Given the description of an element on the screen output the (x, y) to click on. 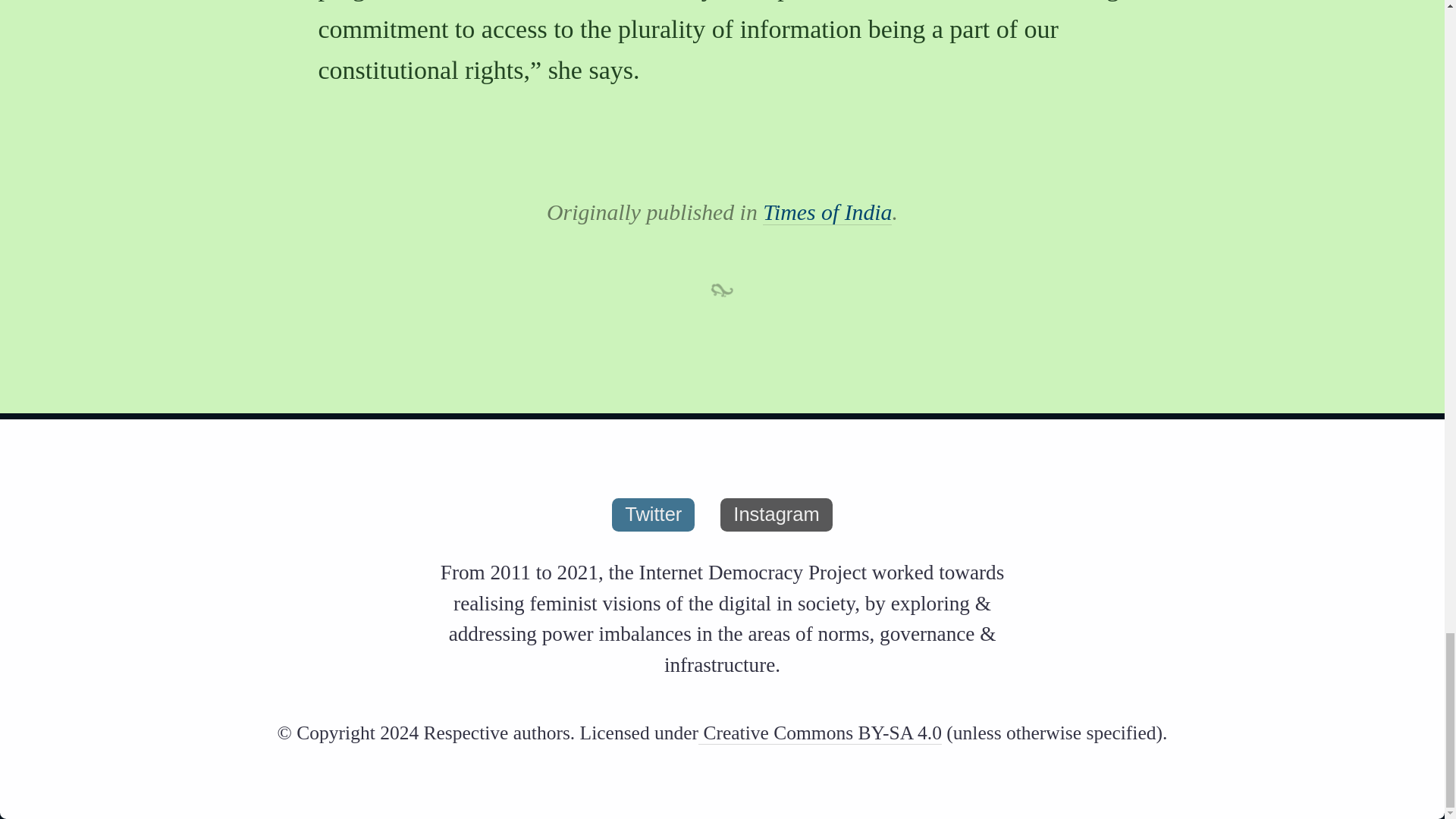
Twitter (652, 514)
Times of India (826, 212)
Creative Commons BY-SA 4.0 (820, 732)
Instagram (775, 514)
